Given the description of an element on the screen output the (x, y) to click on. 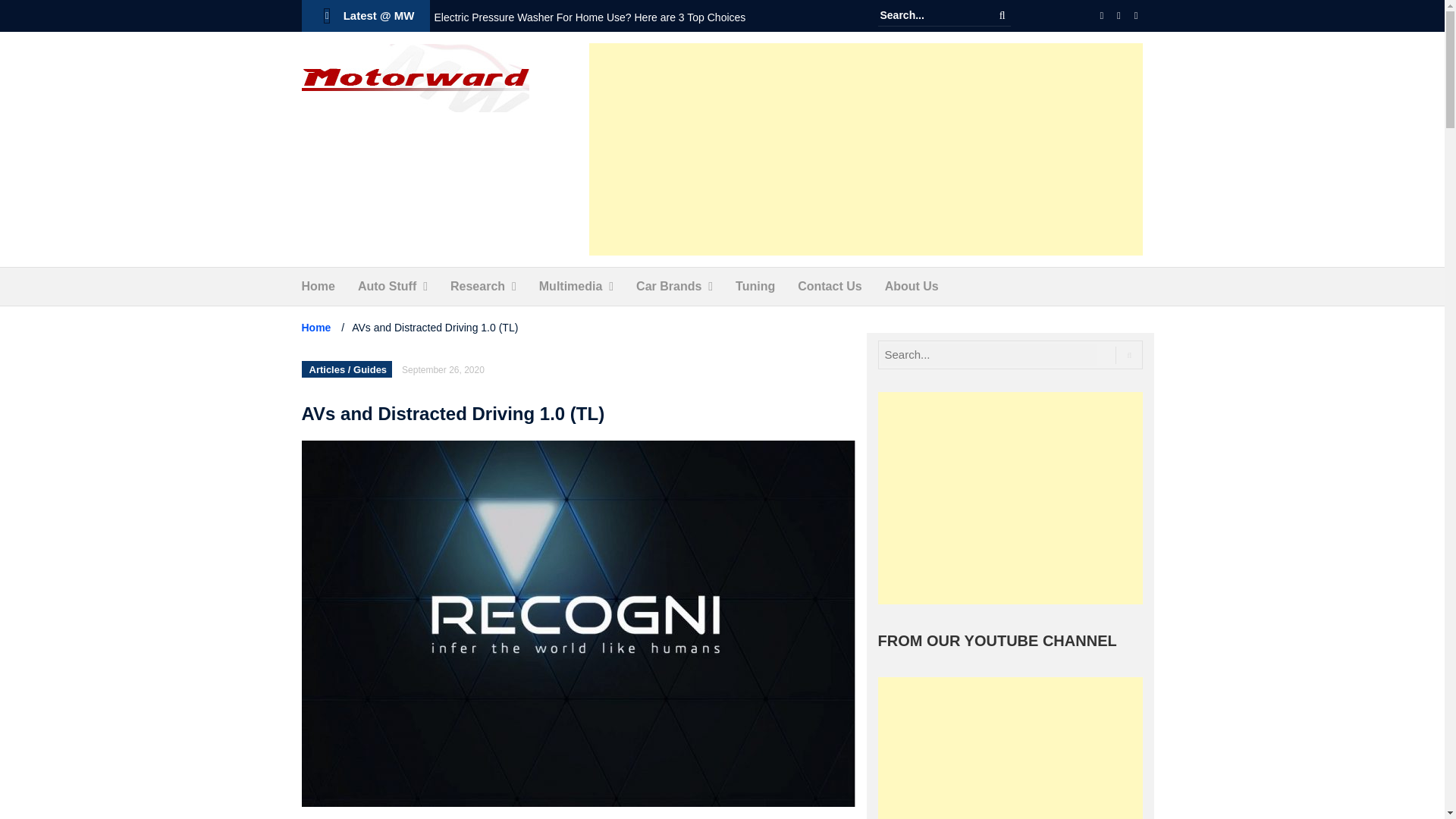
Multimedia (570, 286)
Home (317, 286)
Research (477, 286)
Search   (1002, 14)
Auto Stuff (387, 286)
Car Brands (668, 286)
